Given the description of an element on the screen output the (x, y) to click on. 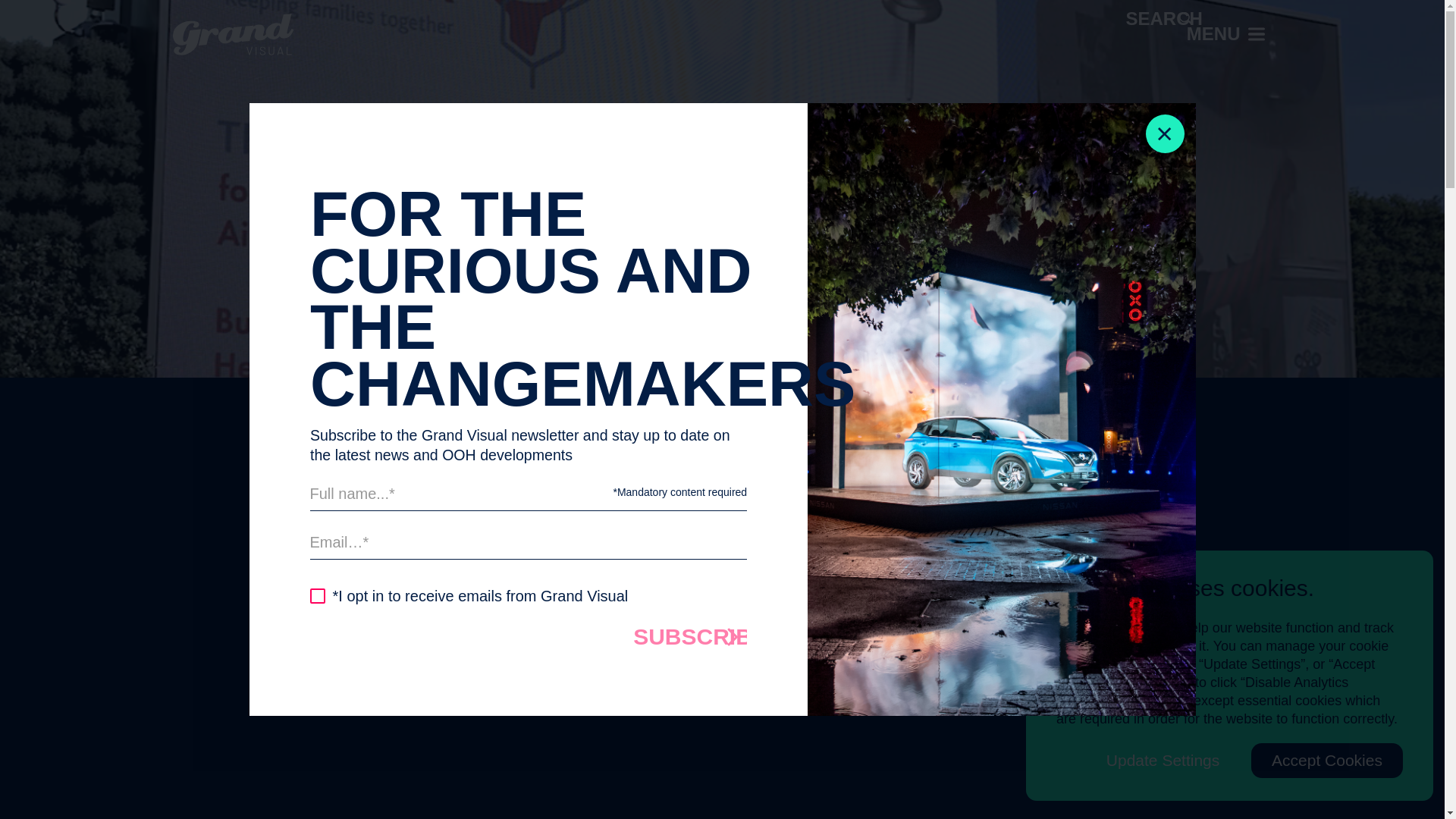
Accept Cookies (1326, 760)
Update Settings (1163, 760)
SEE MORE WORK (353, 121)
Children With Cancer UK (724, 572)
